Given the description of an element on the screen output the (x, y) to click on. 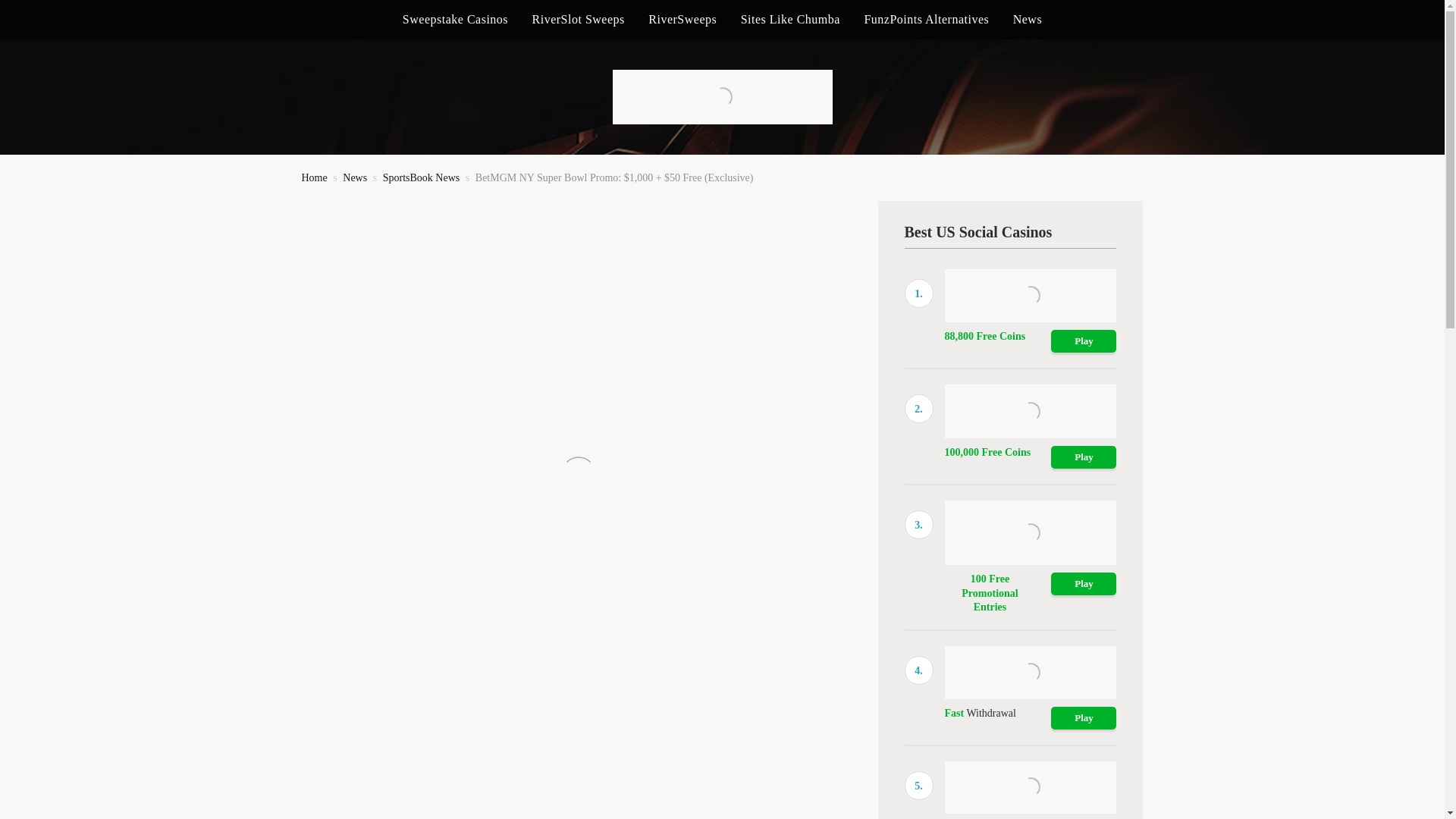
Sites Like Chumba (790, 19)
SportsBook News (421, 177)
RiverSlot Sweeps (578, 19)
Play (1083, 717)
Play (1083, 583)
News (354, 177)
FunzPoints Alternatives (925, 19)
Play (1083, 341)
SportsBook News (421, 177)
News (354, 177)
